Given the description of an element on the screen output the (x, y) to click on. 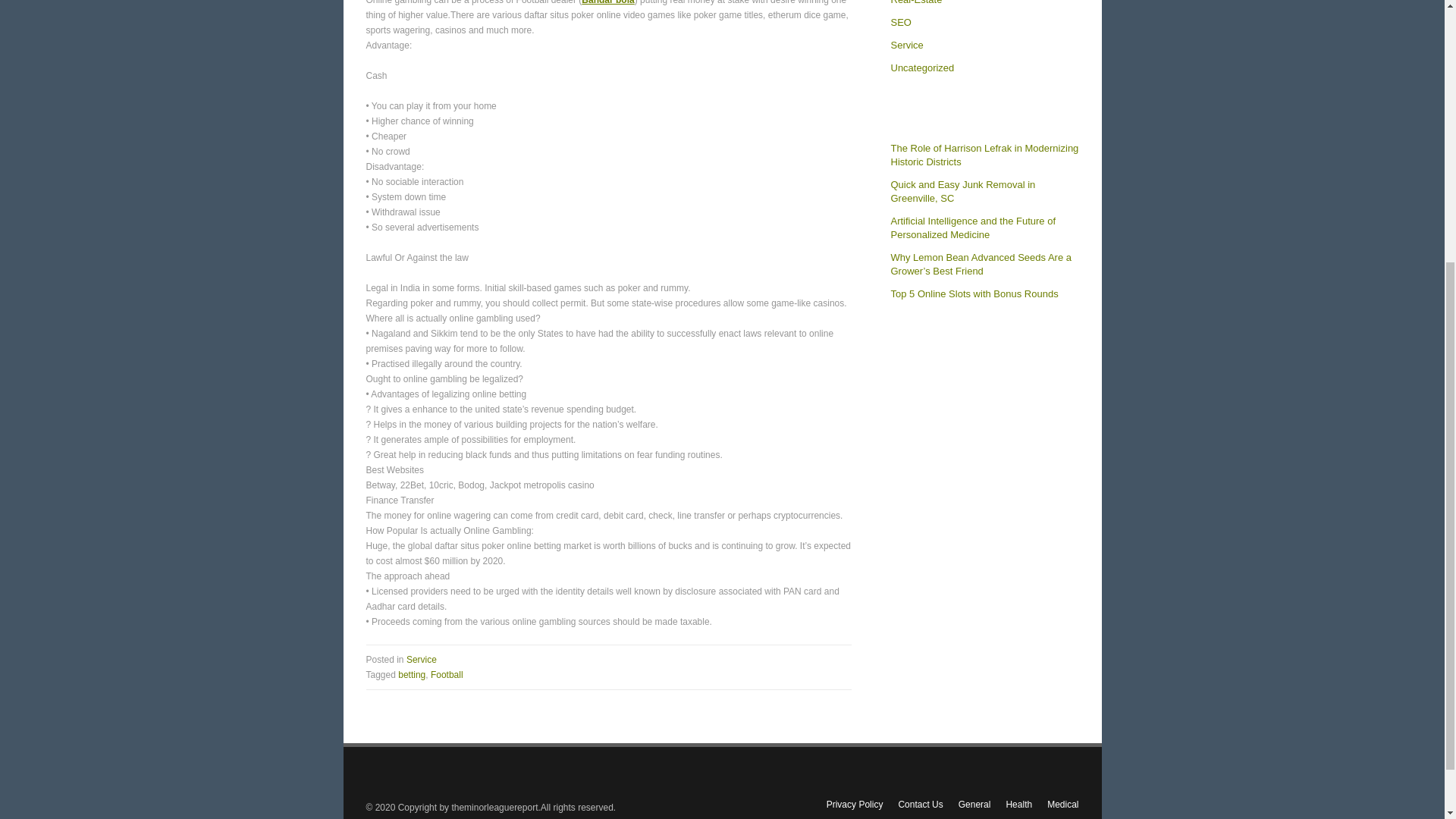
Top 5 Online Slots with Bonus Rounds (973, 293)
Quick and Easy Junk Removal in Greenville, SC (962, 191)
Contact Us (920, 804)
Bandar bola (606, 2)
Service (421, 659)
General (974, 804)
Health (1019, 804)
betting (411, 674)
Privacy Policy (855, 804)
